Given the description of an element on the screen output the (x, y) to click on. 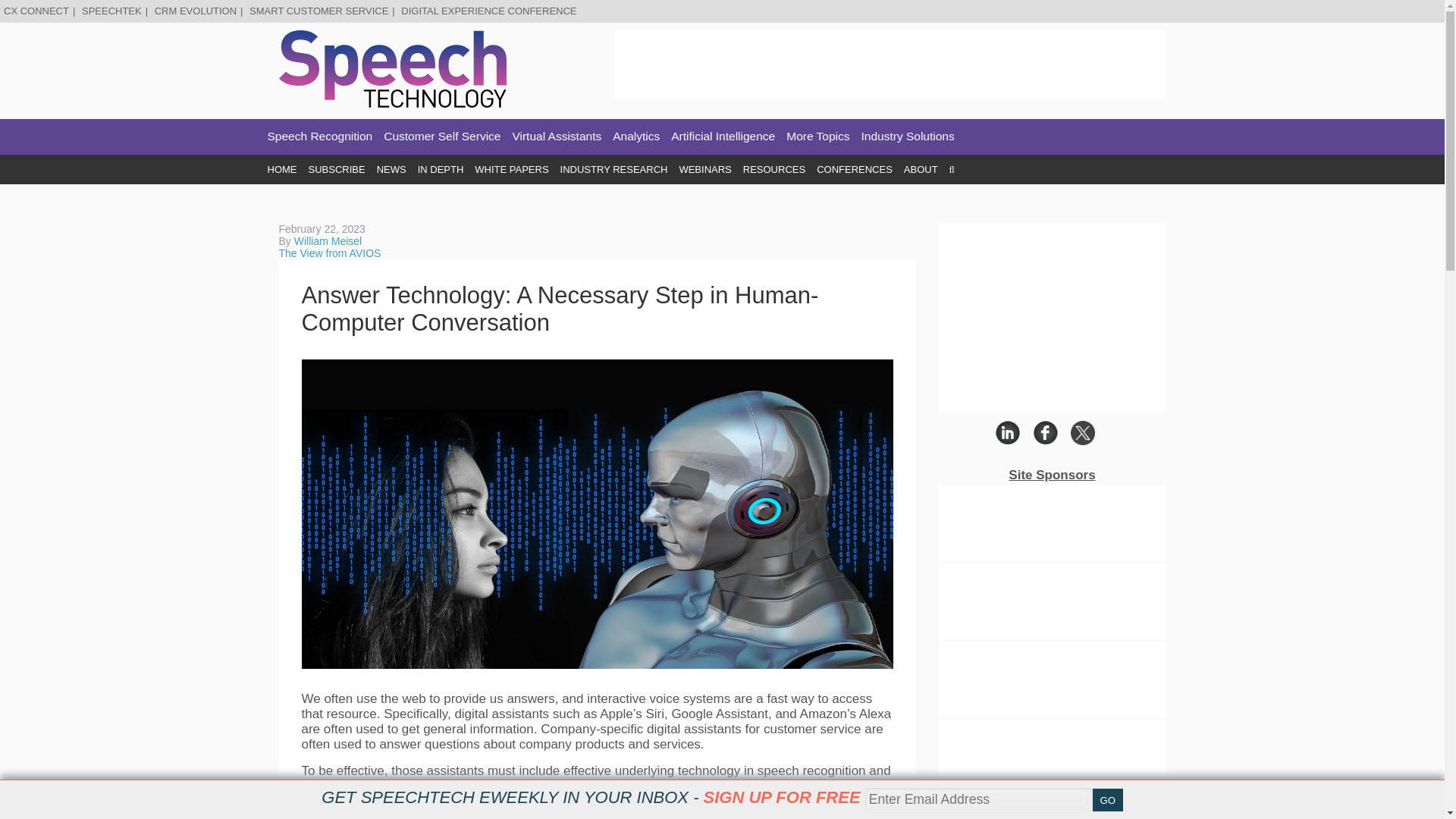
More Topics (817, 136)
Virtual Assistants (556, 136)
SMART CUSTOMER SERVICE (318, 10)
Artificial Intelligence (722, 136)
Analytics (635, 136)
CRM EVOLUTION (194, 10)
Industry Solutions (908, 136)
Artificial Intelligence (722, 136)
CX CONNECT (36, 10)
GET SPEECHTECH EWEEKLY IN YOUR INBOX - SIGN UP FOR FREE (590, 797)
